Given the description of an element on the screen output the (x, y) to click on. 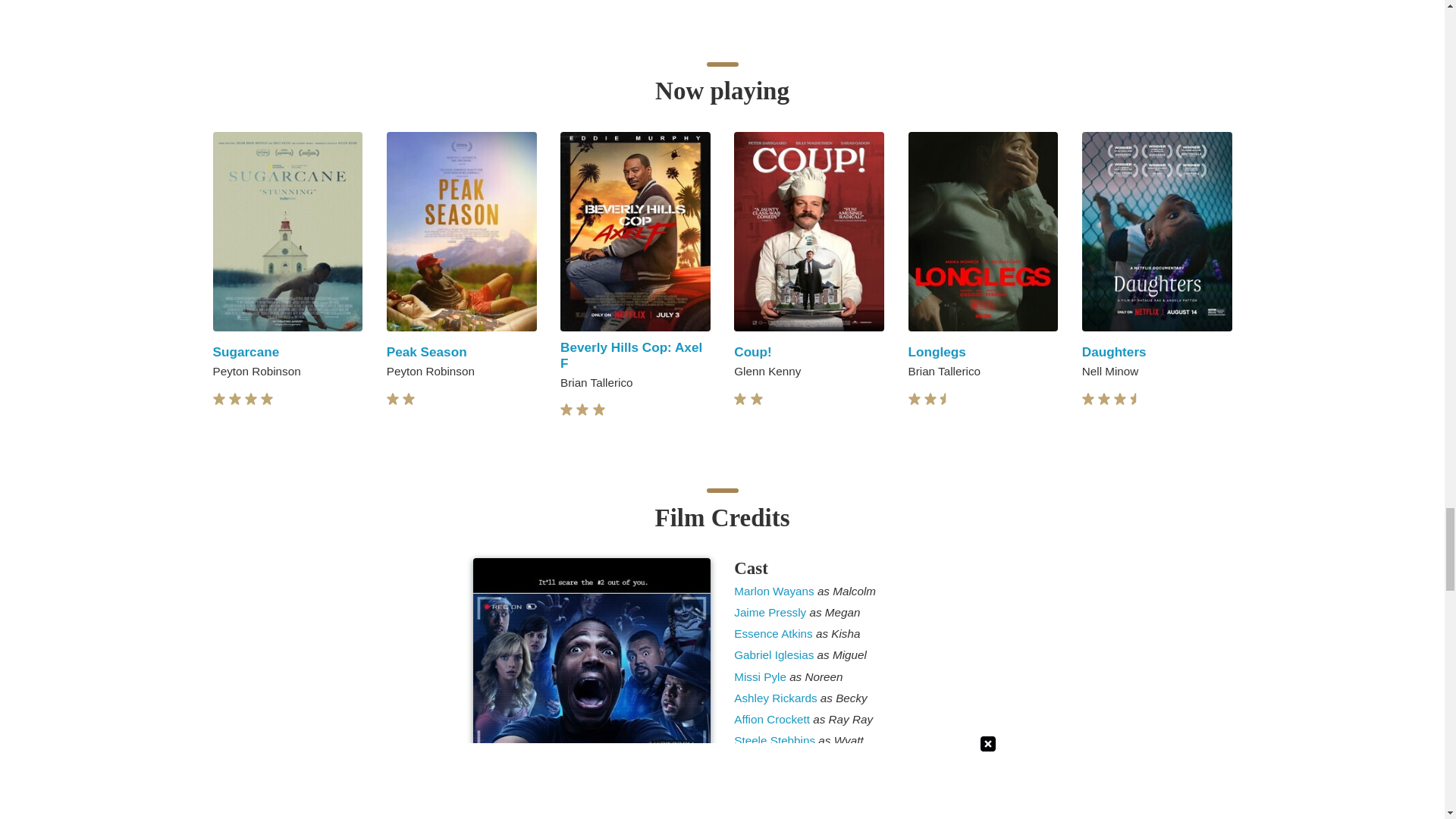
star-full (218, 399)
star-full (408, 399)
star-full (250, 399)
star-full (392, 399)
star-full (266, 399)
star-full (234, 399)
